Given the description of an element on the screen output the (x, y) to click on. 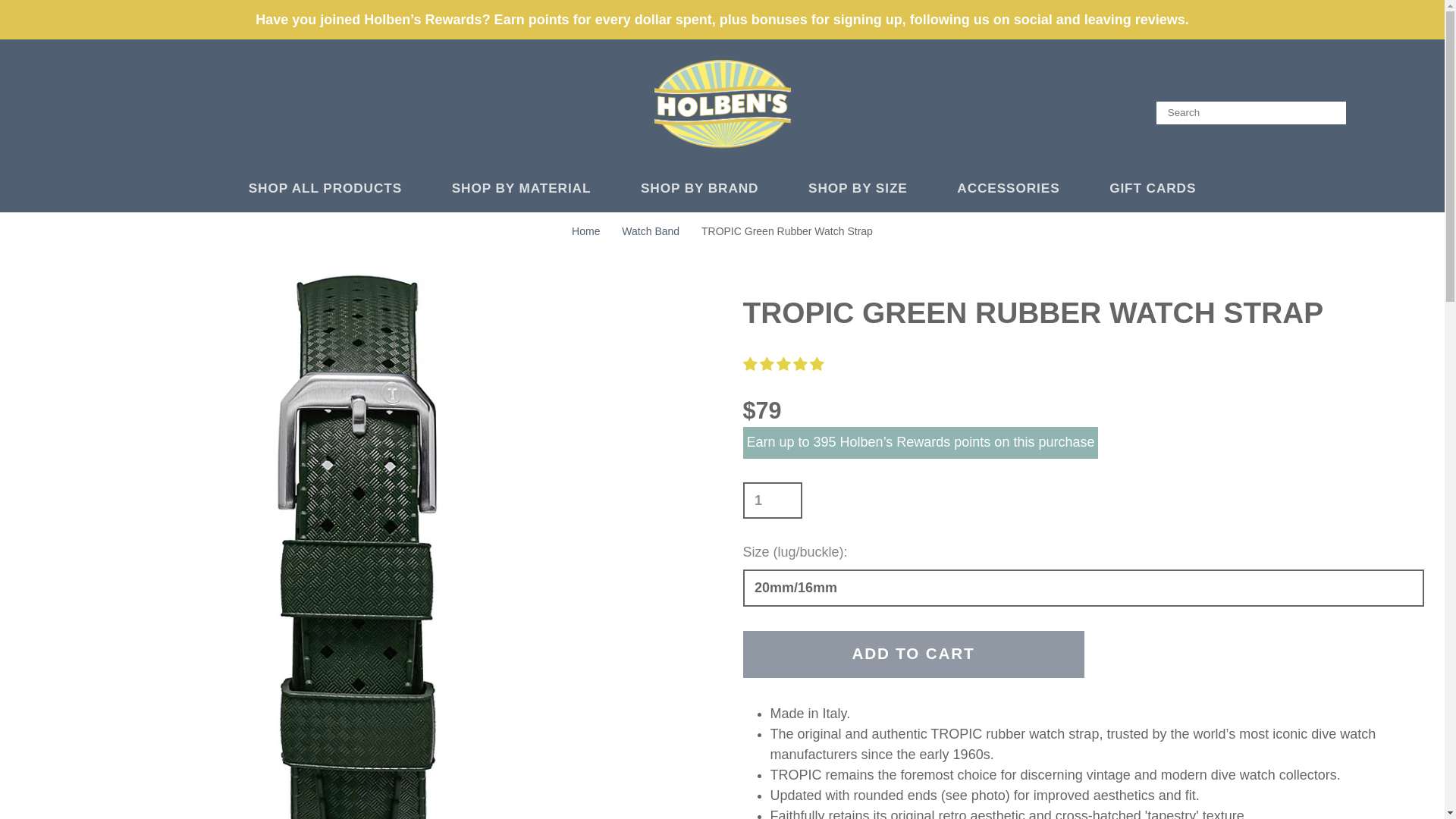
SHOP ALL PRODUCTS (333, 188)
SHOP BY MATERIAL (529, 188)
SHOP BY SIZE (866, 188)
Home (585, 231)
SHOP BY BRAND (708, 188)
CART (1415, 112)
LOG IN (1369, 112)
